Given the description of an element on the screen output the (x, y) to click on. 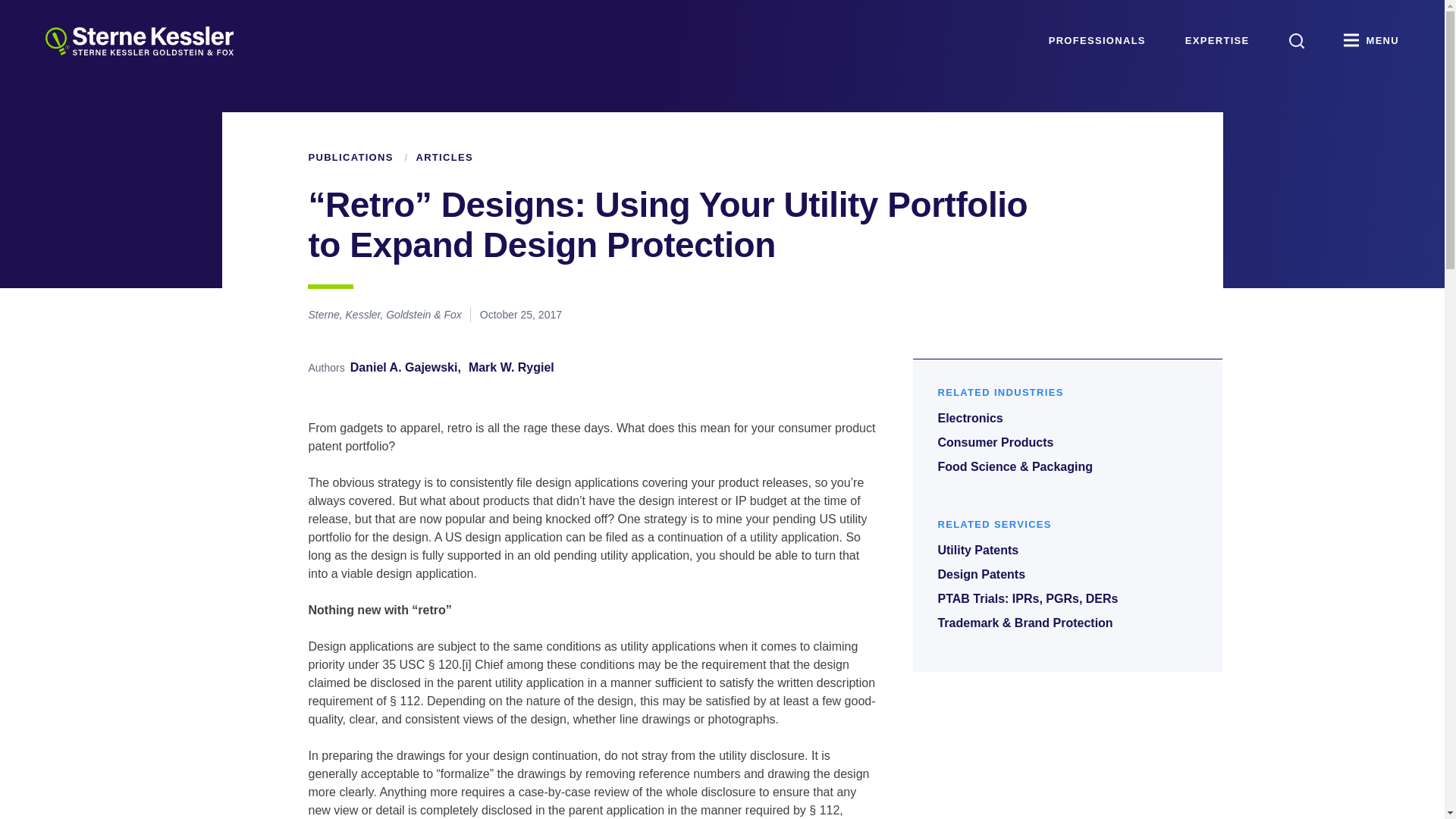
PROFESSIONALS (1096, 40)
MENU (1371, 40)
Sterne Kessler (138, 40)
